Given the description of an element on the screen output the (x, y) to click on. 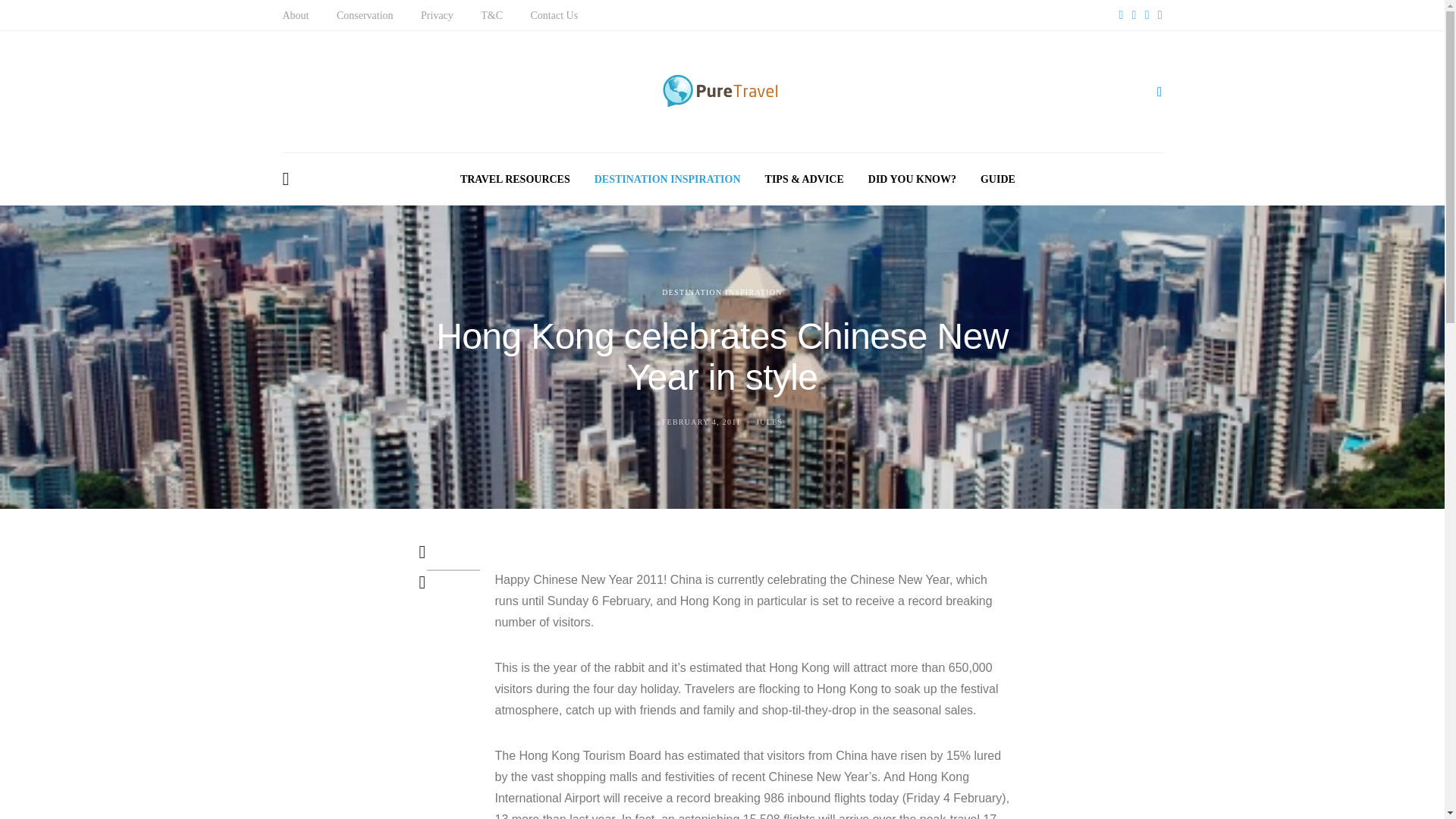
Conservation (364, 15)
DESTINATION INSPIRATION (667, 178)
Contact Us (554, 15)
DESTINATION INSPIRATION (721, 292)
View all posts by Jules (769, 421)
DID YOU KNOW? (911, 178)
FEBRUARY 4, 2011 (701, 421)
JULES (769, 421)
About (295, 15)
GUIDE (996, 178)
Privacy (436, 15)
TRAVEL RESOURCES (515, 178)
